Given the description of an element on the screen output the (x, y) to click on. 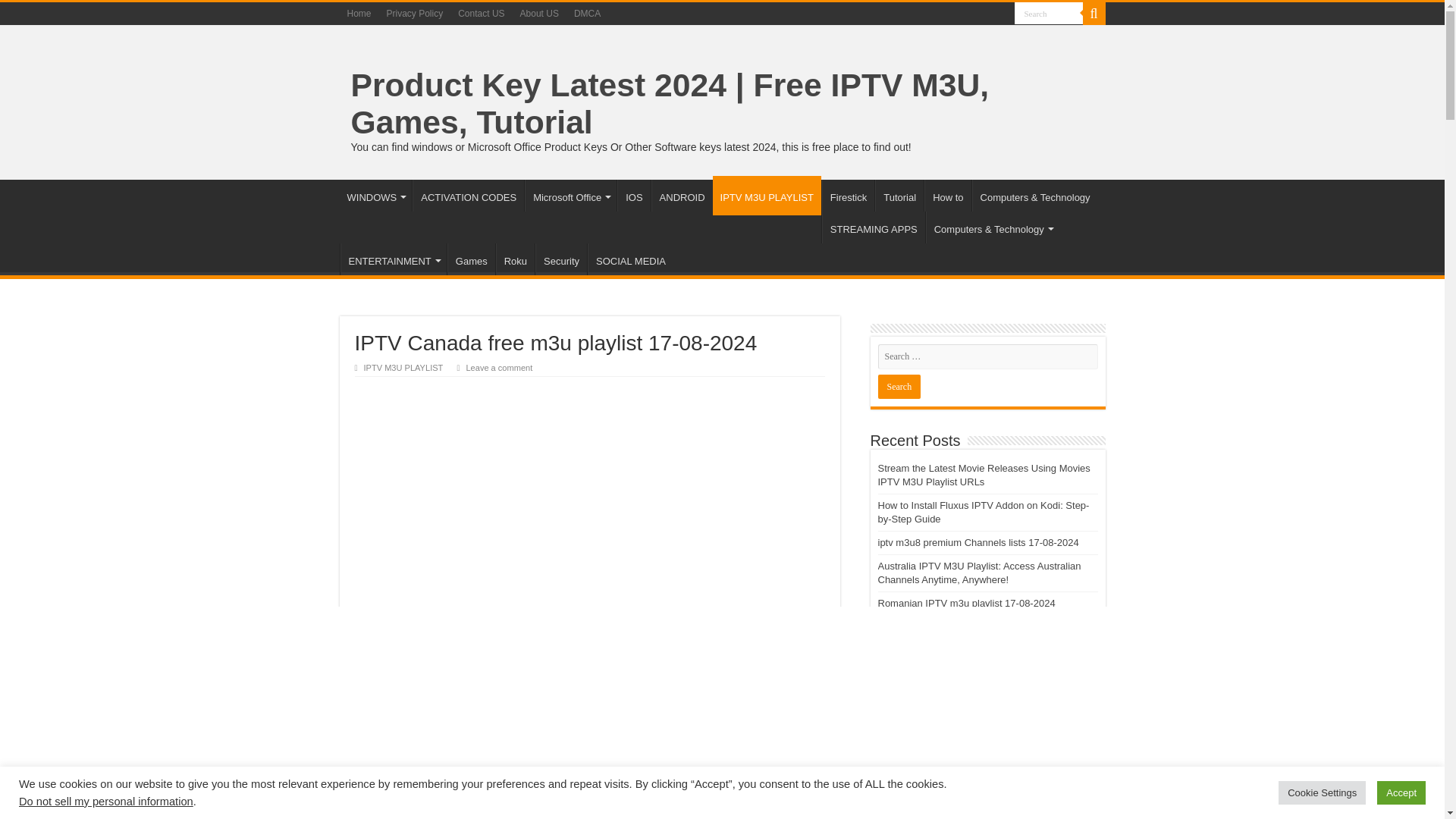
Contact US (480, 13)
Search (1048, 13)
Advertisement (590, 710)
Advertisement (590, 490)
About US (539, 13)
Privacy Policy (414, 13)
Search (1094, 13)
Search (1048, 13)
Home (358, 13)
Search (899, 386)
